Given the description of an element on the screen output the (x, y) to click on. 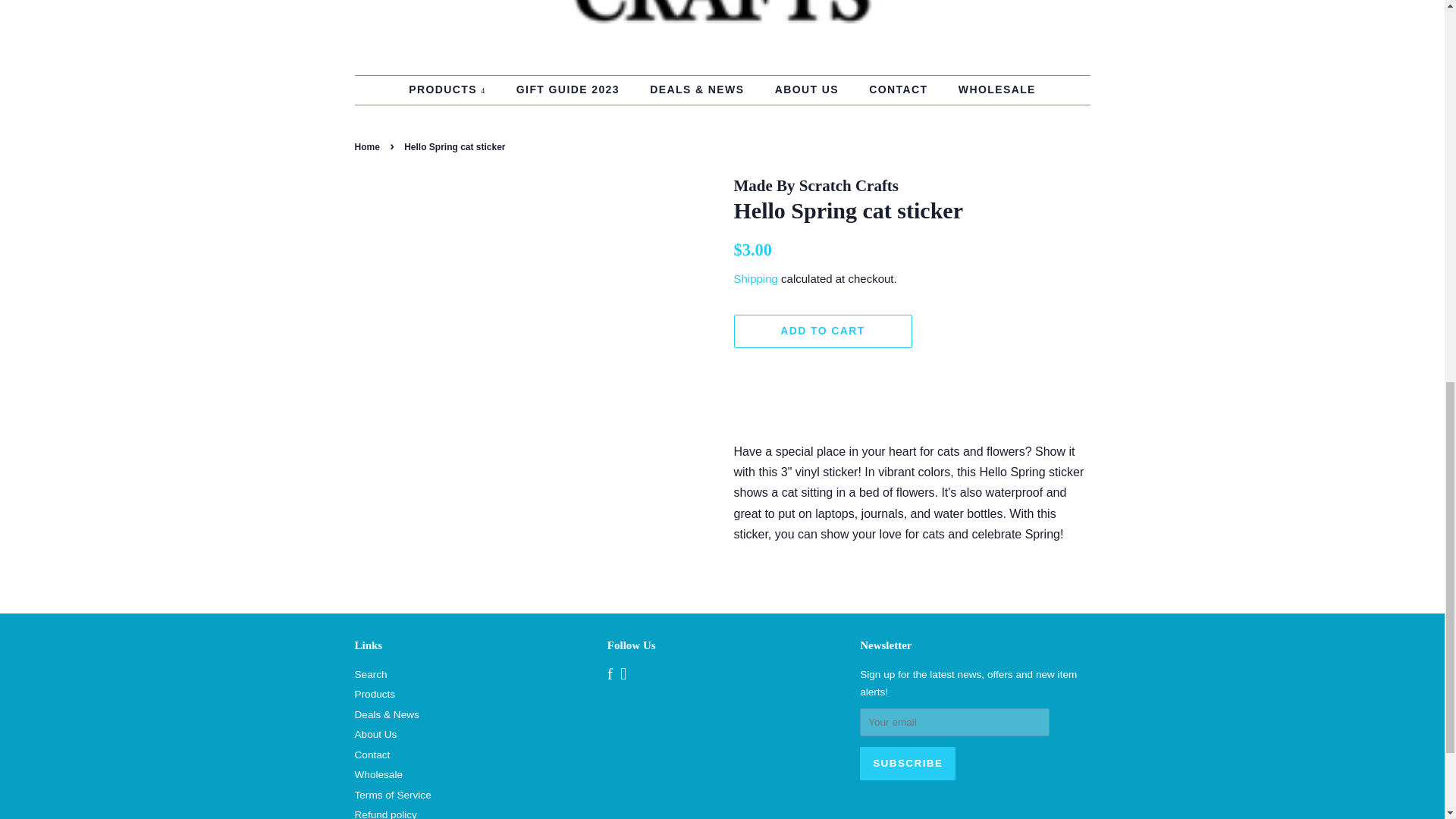
CONTACT (899, 90)
ADD TO CART (822, 331)
ABOUT US (807, 90)
Home (369, 146)
GIFT GUIDE 2023 (569, 90)
Subscribe (907, 763)
Back to the frontpage (369, 146)
PRODUCTS (454, 90)
Shipping (755, 277)
Search (371, 674)
